Given the description of an element on the screen output the (x, y) to click on. 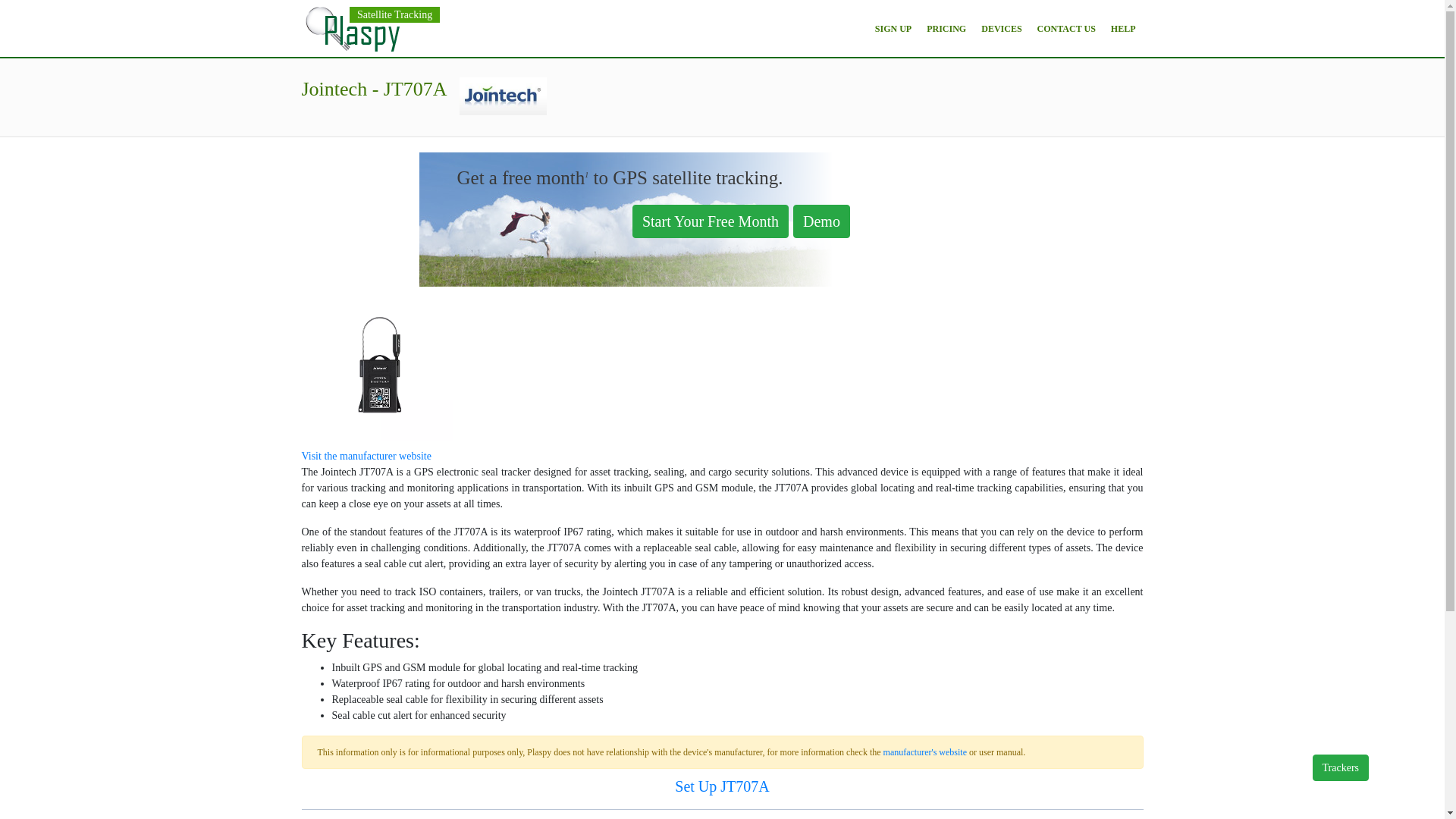
Visit the manufacturer website (365, 455)
SIGN UP (892, 28)
Satellite Tracking (394, 14)
Trackers (1340, 767)
manufacturer's website (924, 751)
CONTACT US (1066, 28)
Trackers (1340, 767)
DEVICES (1001, 28)
Start Your Free Month (710, 221)
Demo (820, 220)
PRICING (946, 28)
